Given the description of an element on the screen output the (x, y) to click on. 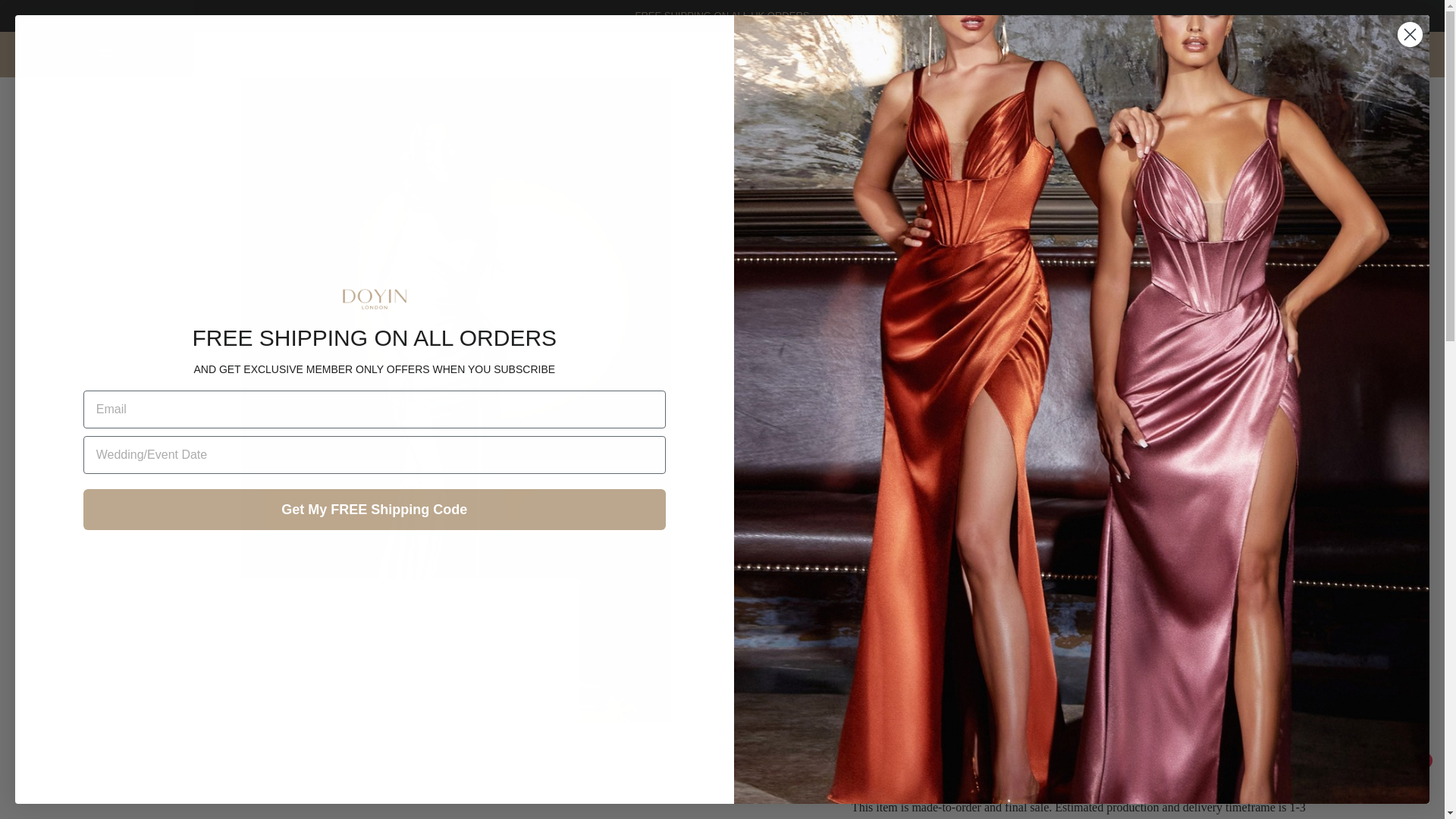
ADD TO CART (1090, 305)
Shopify online store chat (1404, 781)
SITE NAVIGATION (106, 50)
